Given the description of an element on the screen output the (x, y) to click on. 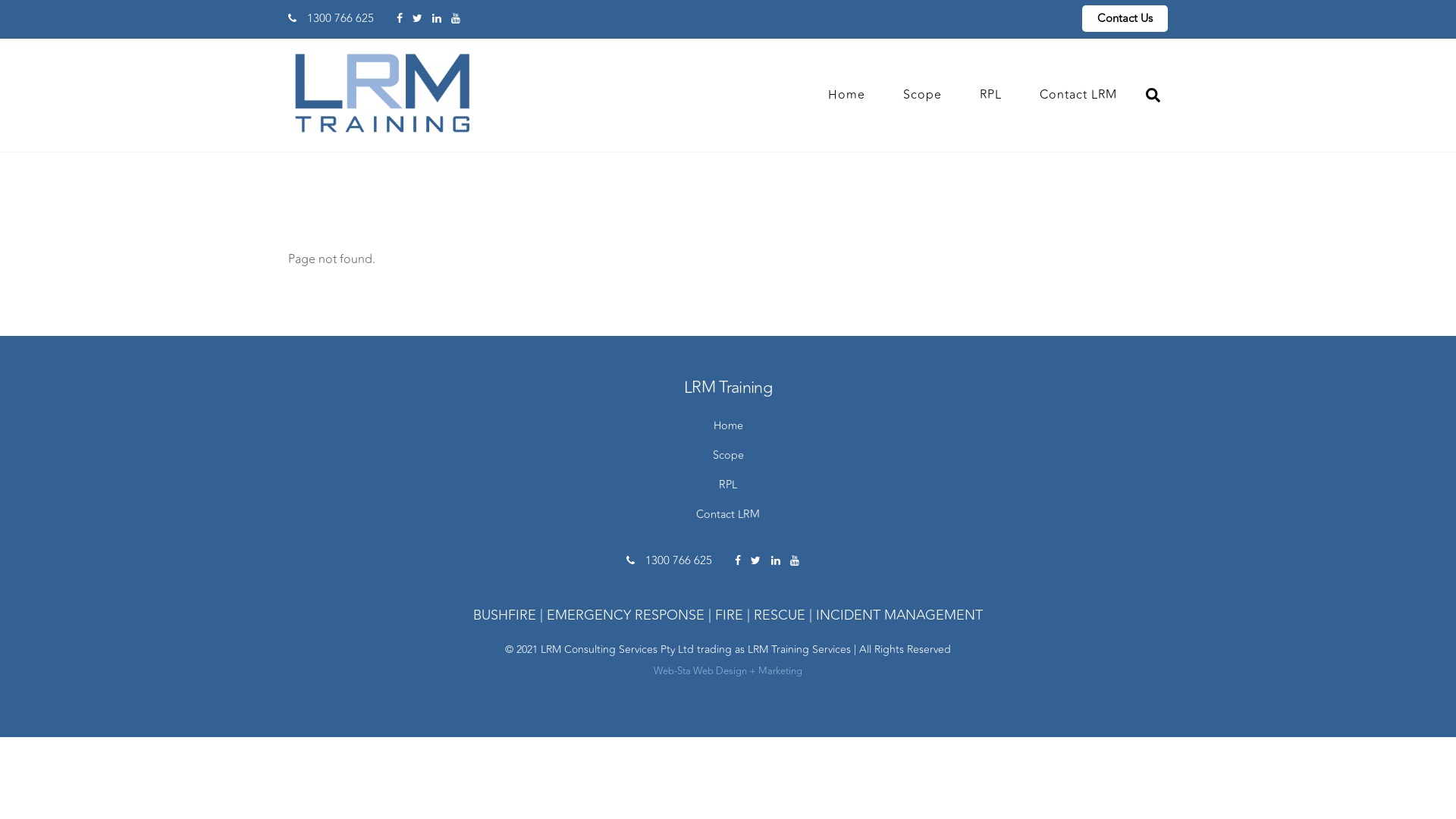
Home Element type: text (727, 425)
Contact Us Element type: text (1124, 18)
Scope Element type: text (922, 94)
RPL Element type: text (990, 94)
Contact LRM Element type: text (727, 514)
Home Element type: text (846, 94)
1300 766 625 Element type: text (330, 18)
Search Element type: text (1152, 94)
LRM Training Element type: hover (382, 128)
Web-Sta Web Design + Marketing Element type: text (727, 670)
RPL Element type: text (727, 484)
1300 766 625 Element type: text (669, 560)
LRM Training Element type: hover (382, 91)
LRM Training Element type: text (727, 387)
Contact LRM Element type: text (1077, 94)
Scope Element type: text (727, 455)
